Given the description of an element on the screen output the (x, y) to click on. 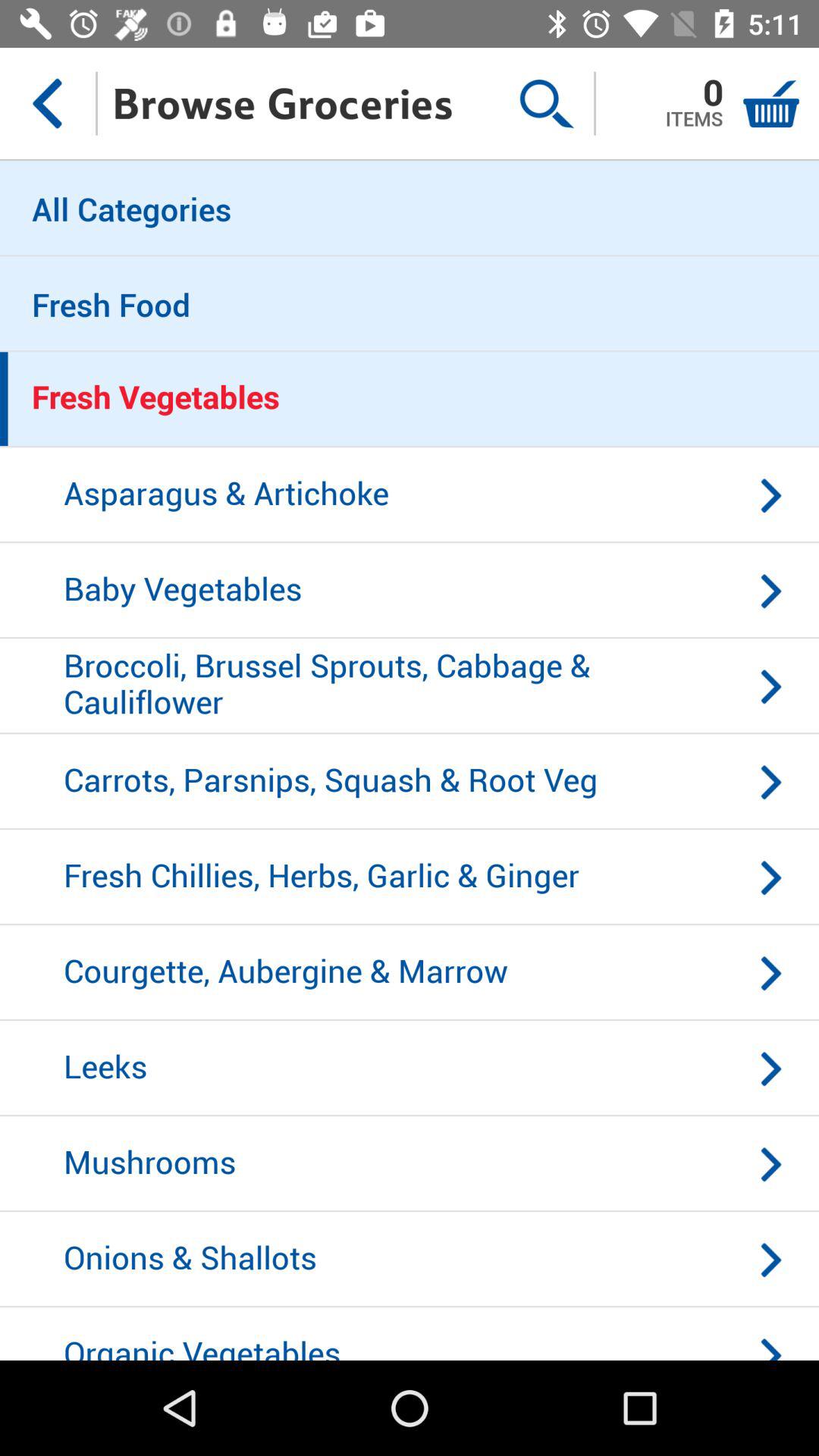
select icon below baby vegetables icon (409, 686)
